Given the description of an element on the screen output the (x, y) to click on. 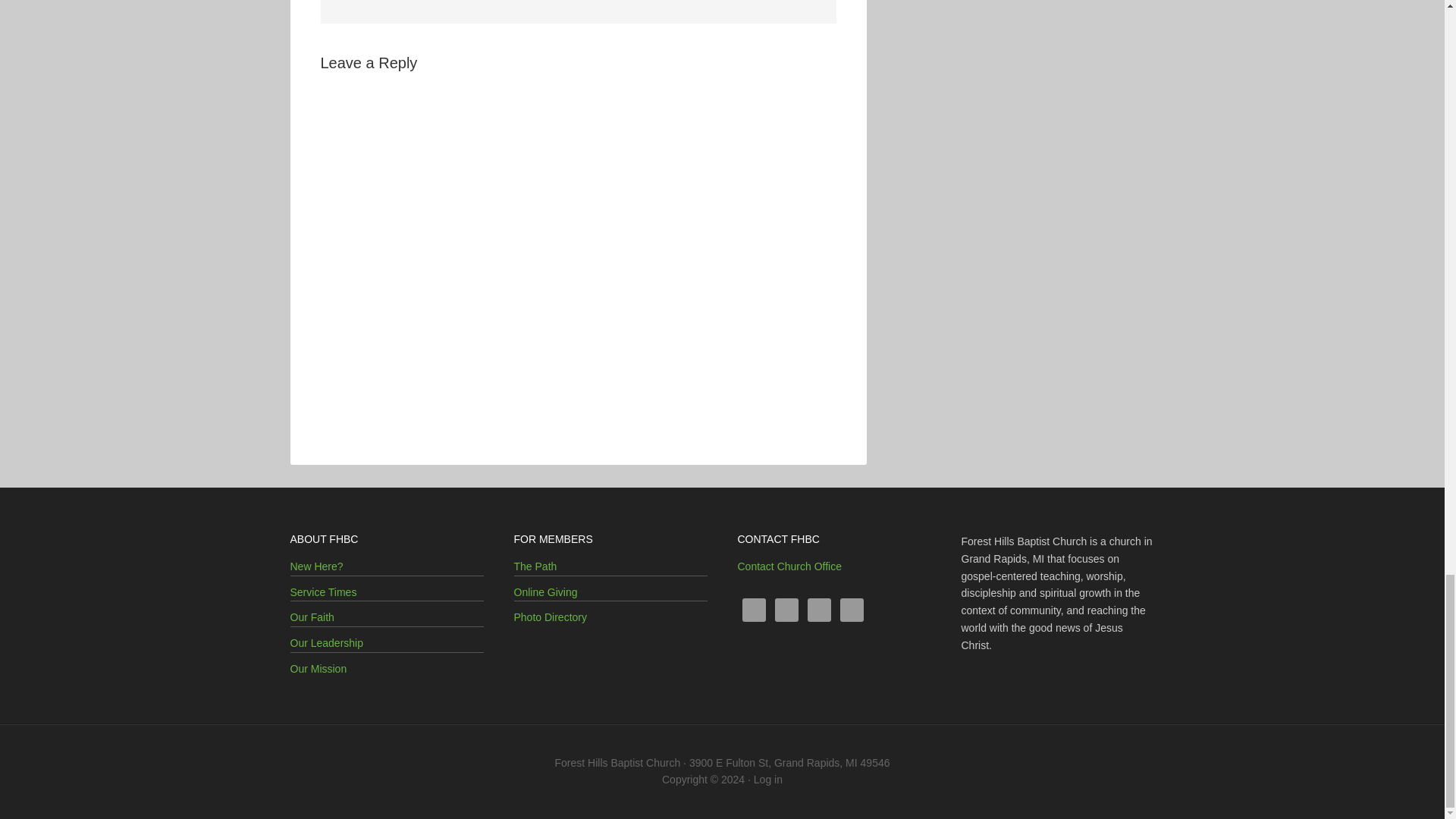
Give a one-time or recurring donation (545, 592)
